Given the description of an element on the screen output the (x, y) to click on. 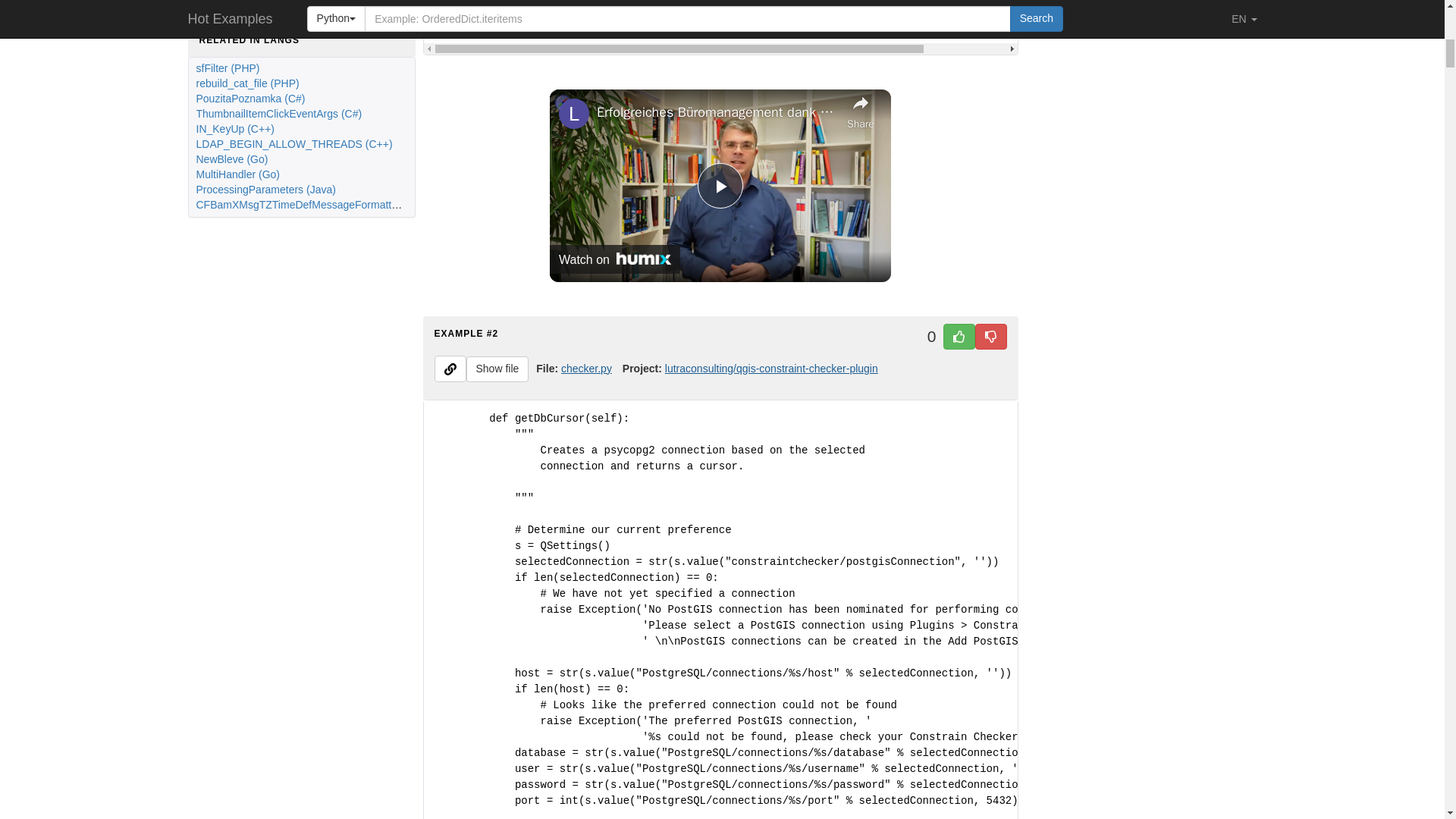
Direct link to this example (449, 368)
Mark this example as bad (991, 336)
Mark this example as good (959, 336)
Play Video (719, 185)
share (861, 110)
